Given the description of an element on the screen output the (x, y) to click on. 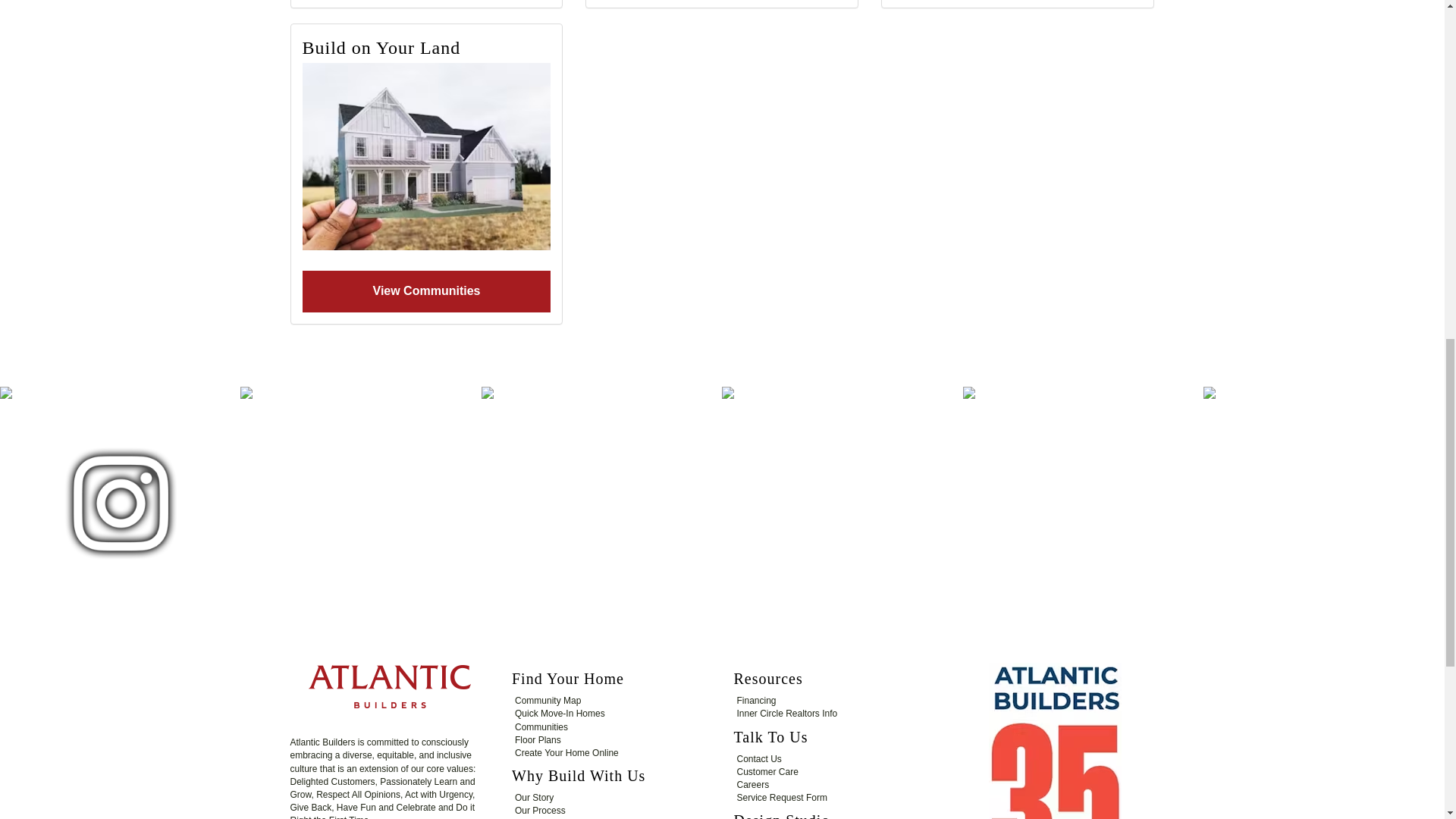
More in Build on Your Land (425, 156)
